Given the description of an element on the screen output the (x, y) to click on. 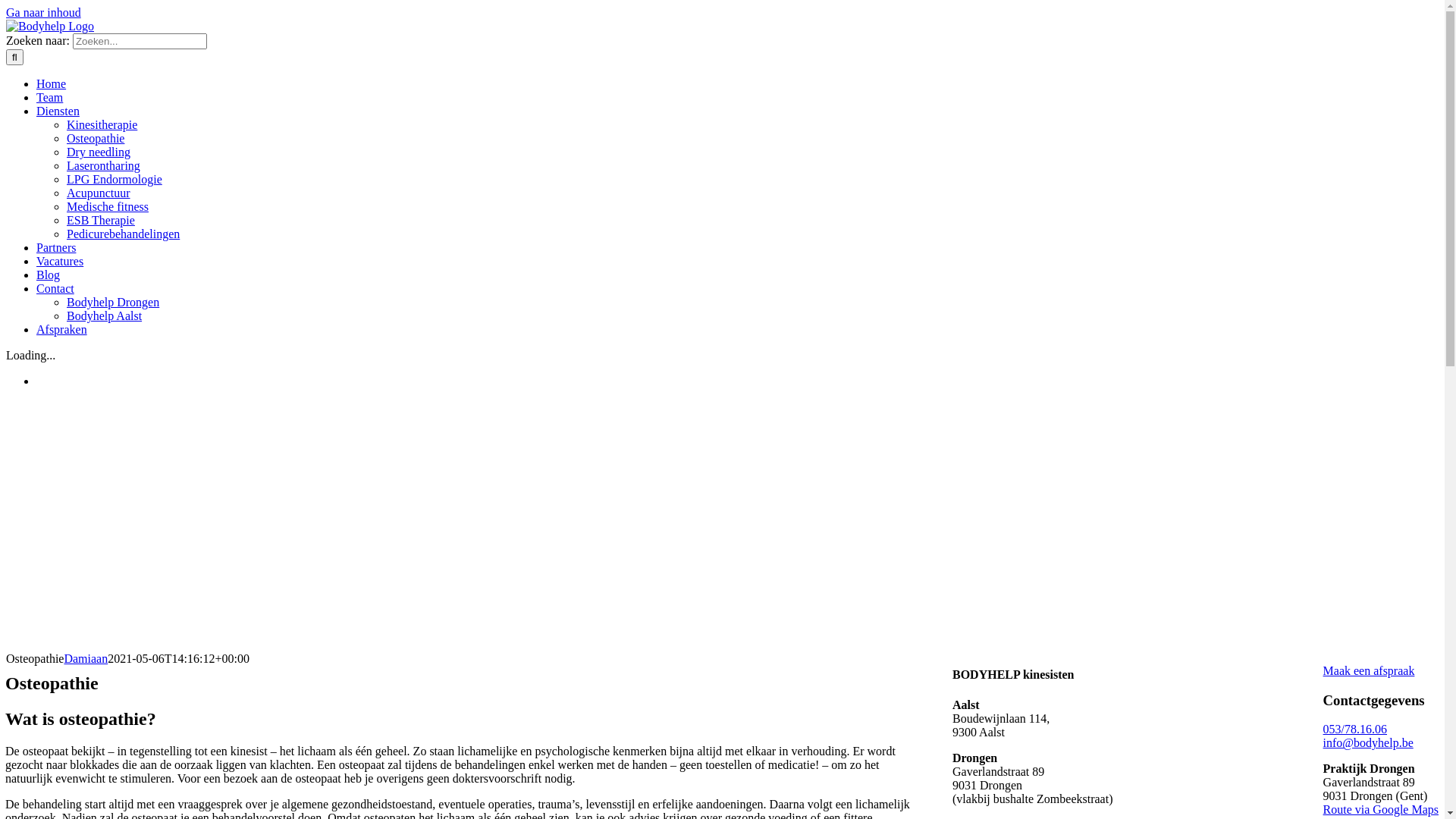
Bodyhelp Aalst Element type: text (103, 315)
Ga naar inhoud Element type: text (43, 12)
Vacatures Element type: text (59, 260)
Laserontharing Element type: text (103, 165)
Route via Google Maps Element type: text (1380, 809)
Acupunctuur Element type: text (98, 192)
Contact Element type: text (55, 288)
info@bodyhelp.be Element type: text (1368, 742)
Kinesitherapie Element type: text (101, 124)
Maak een afspraak Element type: text (1369, 670)
LPG Endormologie Element type: text (114, 178)
Dry needling Element type: text (98, 151)
Pedicurebehandelingen Element type: text (122, 233)
053/78.16.06 Element type: text (1354, 728)
ESB Therapie Element type: text (100, 219)
Damiaan Element type: text (85, 658)
Diensten Element type: text (57, 110)
Bodyhelp Drongen Element type: text (112, 301)
Team Element type: text (49, 97)
Osteopathie Element type: text (95, 137)
Blog Element type: text (47, 274)
Medische fitness Element type: text (107, 206)
Partners Element type: text (55, 247)
Afspraken Element type: text (61, 329)
Home Element type: text (50, 83)
